Given the description of an element on the screen output the (x, y) to click on. 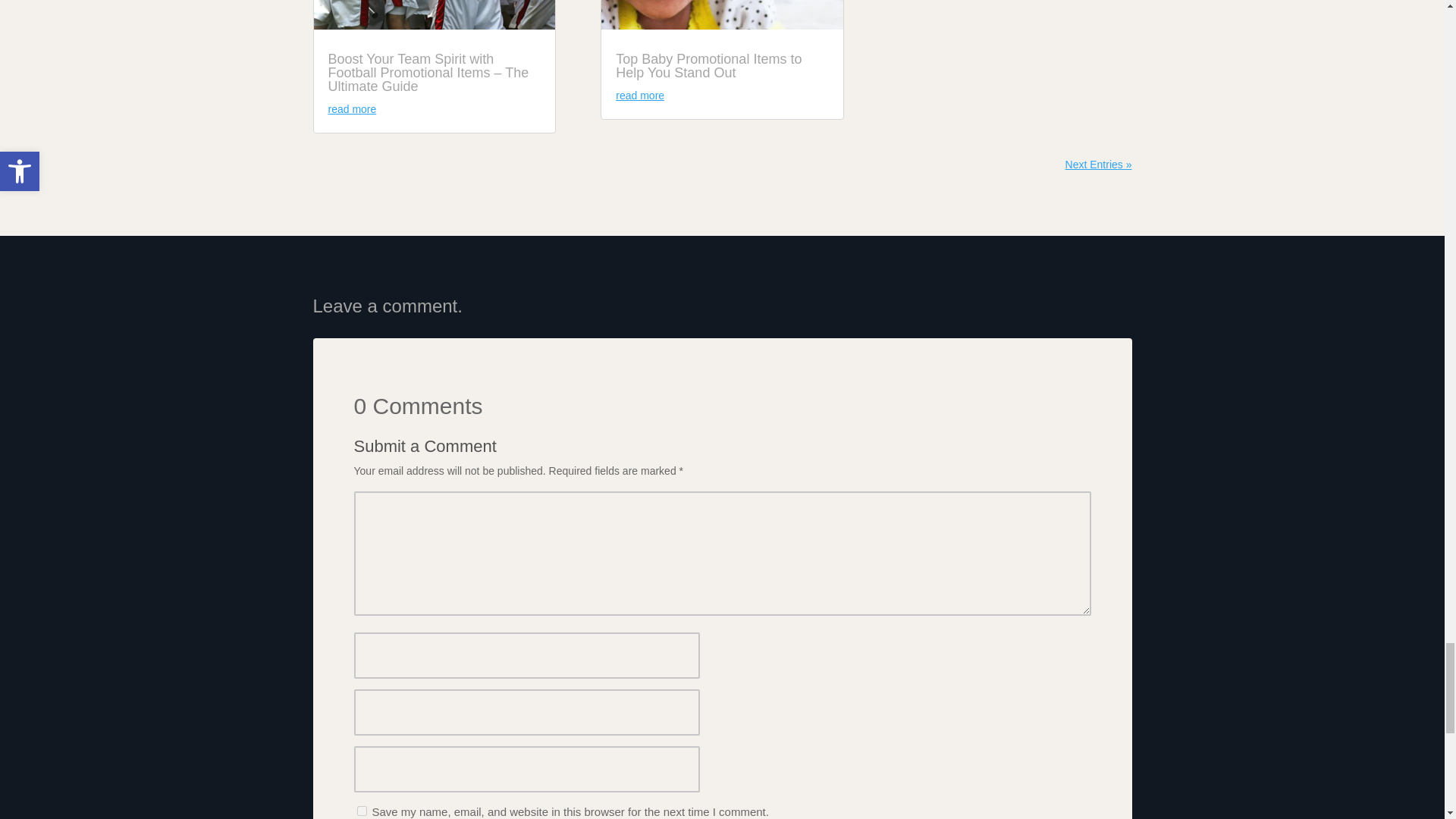
yes (361, 810)
